Given the description of an element on the screen output the (x, y) to click on. 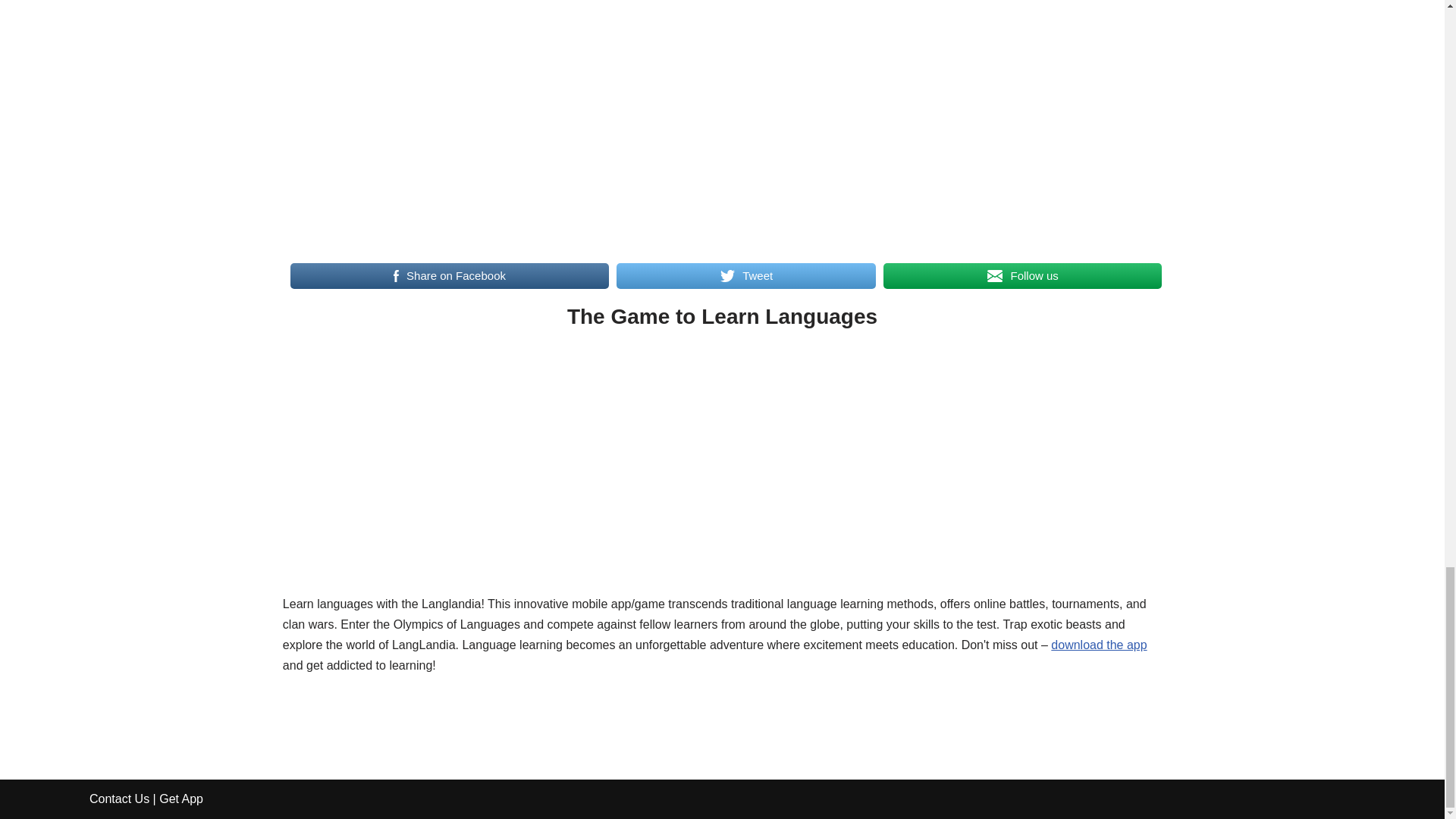
YouTube video player (721, 473)
Share on Facebook (448, 275)
Contact Us (118, 798)
Follow us (1022, 275)
download the app (1099, 644)
Get App (180, 798)
YouTube video player (721, 115)
Tweet (745, 275)
